Given the description of an element on the screen output the (x, y) to click on. 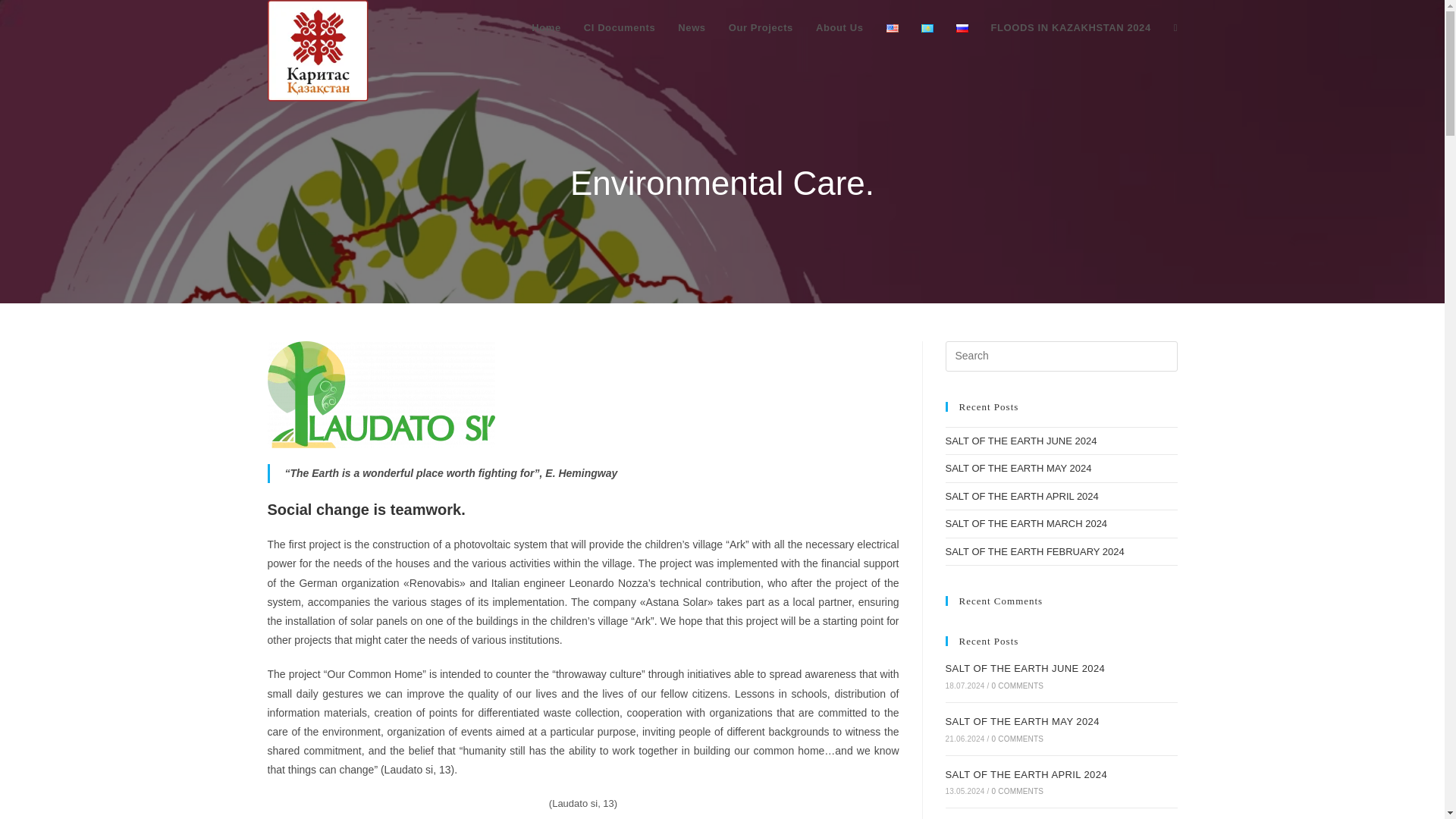
SALT OF THE EARTH APRIL 2024 (1025, 774)
SALT OF THE EARTH MAY 2024 (1021, 721)
0 COMMENTS (1017, 791)
0 COMMENTS (1017, 738)
CI Documents (619, 28)
SALT OF THE EARTH MAY 2024 (1017, 468)
SALT OF THE EARTH JUNE 2024 (1024, 668)
Our Projects (761, 28)
SALT OF THE EARTH APRIL 2024 (1020, 496)
News (691, 28)
